Given the description of an element on the screen output the (x, y) to click on. 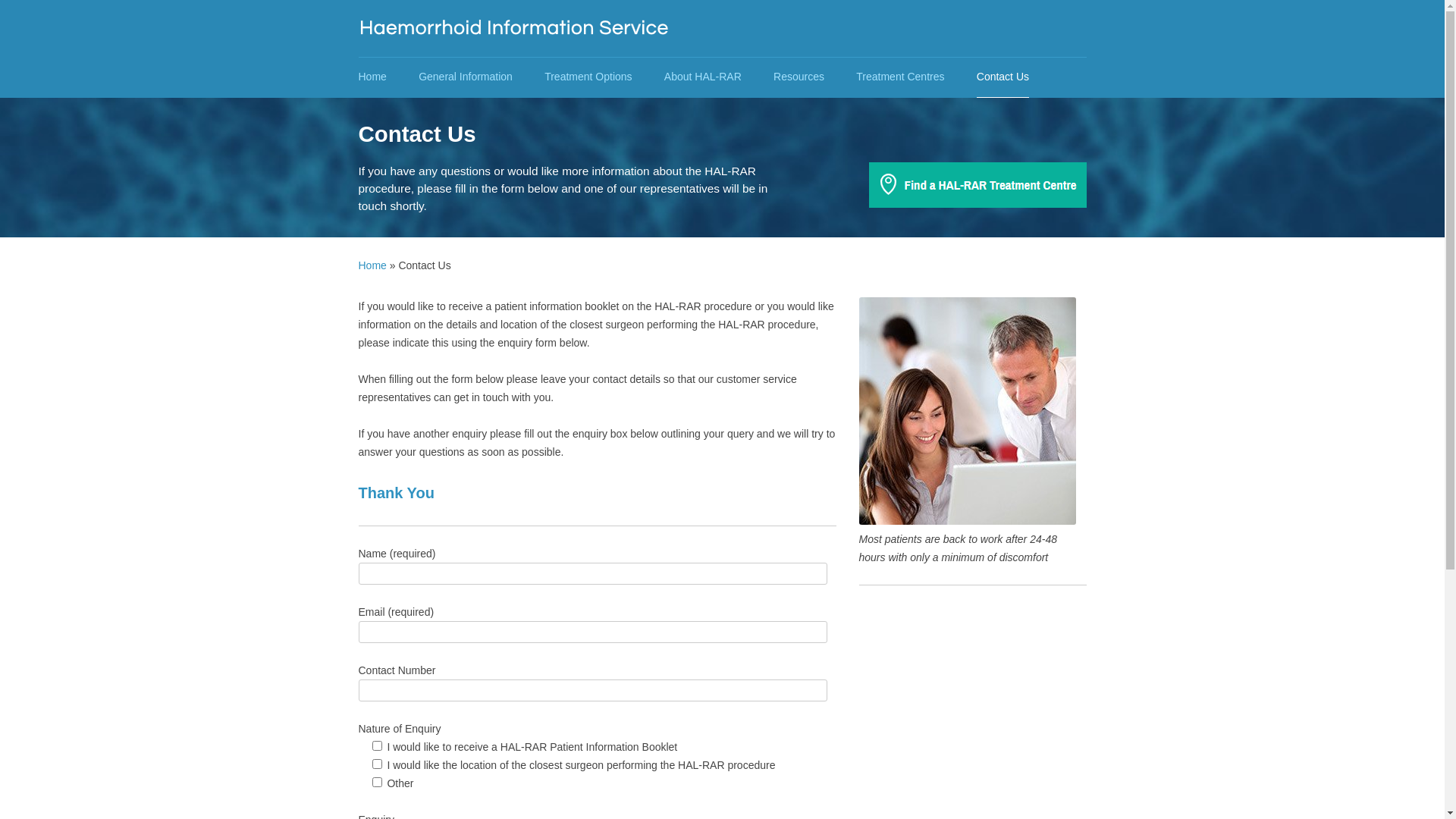
Treatment Centres Element type: text (900, 77)
Resources Element type: text (798, 77)
Skip to content Element type: text (721, 56)
Contact Us Element type: text (1002, 77)
About HAL-RAR Element type: text (702, 77)
Treatment Options Element type: text (587, 77)
General Information Element type: text (465, 77)
Home Element type: text (371, 265)
Home Element type: text (371, 77)
